Given the description of an element on the screen output the (x, y) to click on. 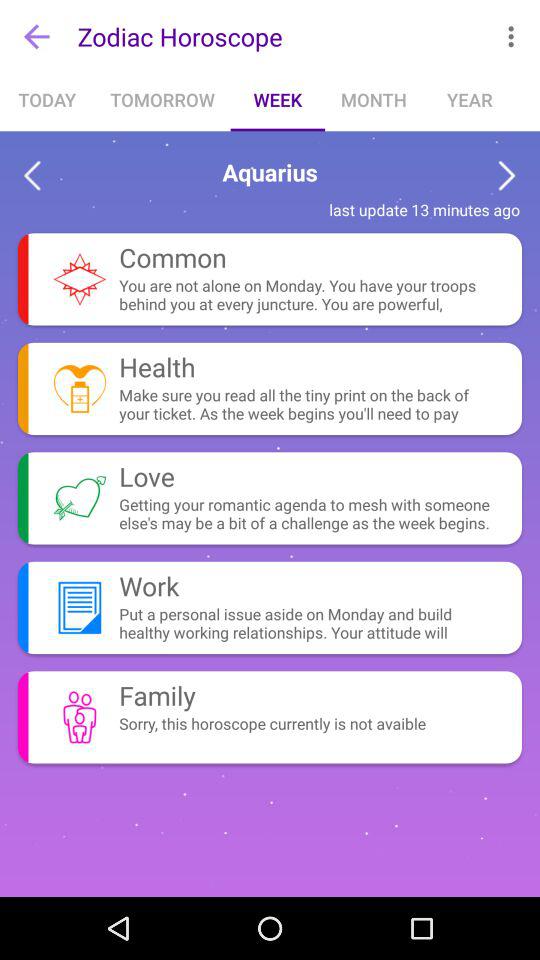
choose the item above the today item (36, 36)
